Given the description of an element on the screen output the (x, y) to click on. 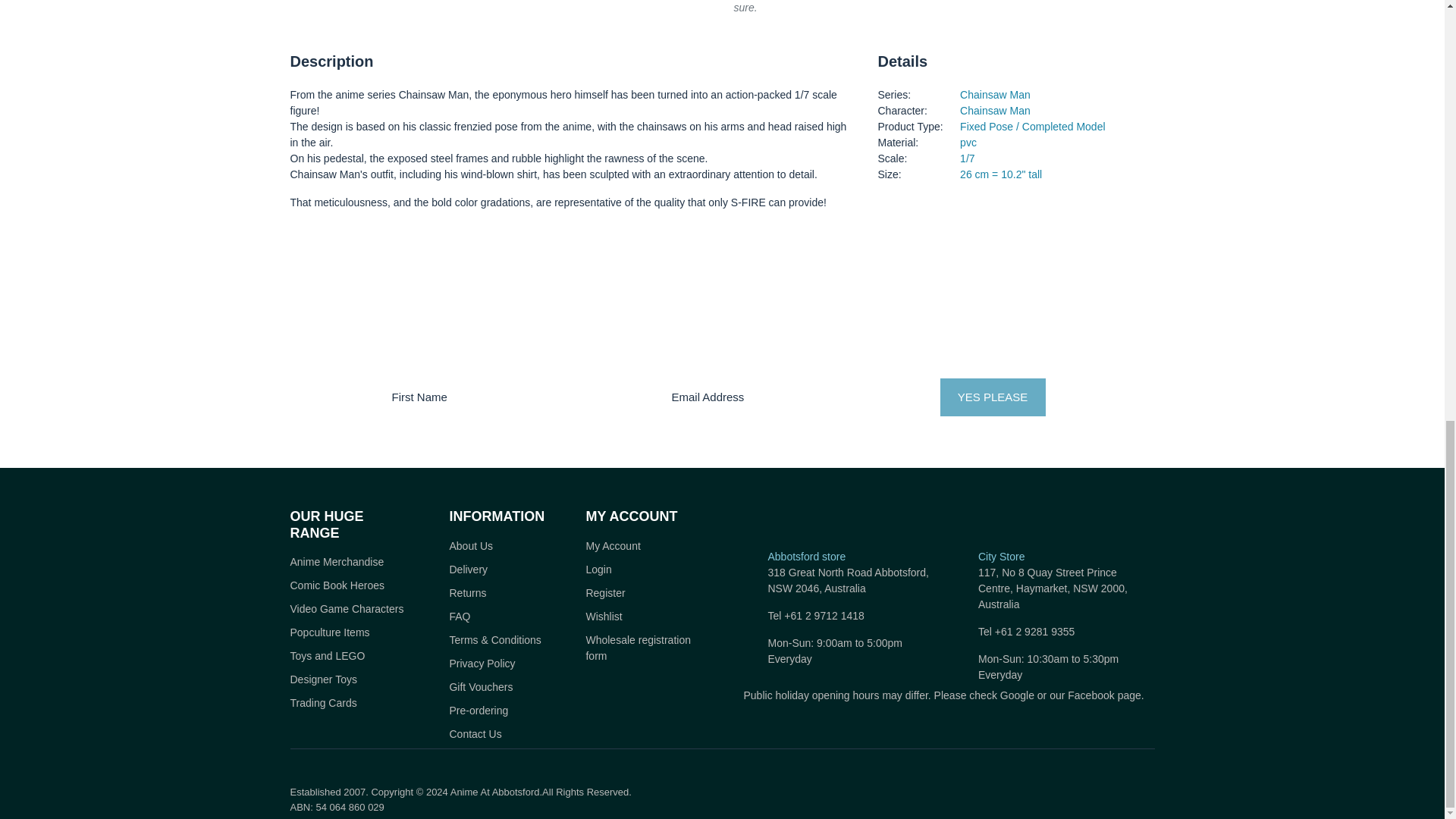
YES PLEASE (992, 397)
